Given the description of an element on the screen output the (x, y) to click on. 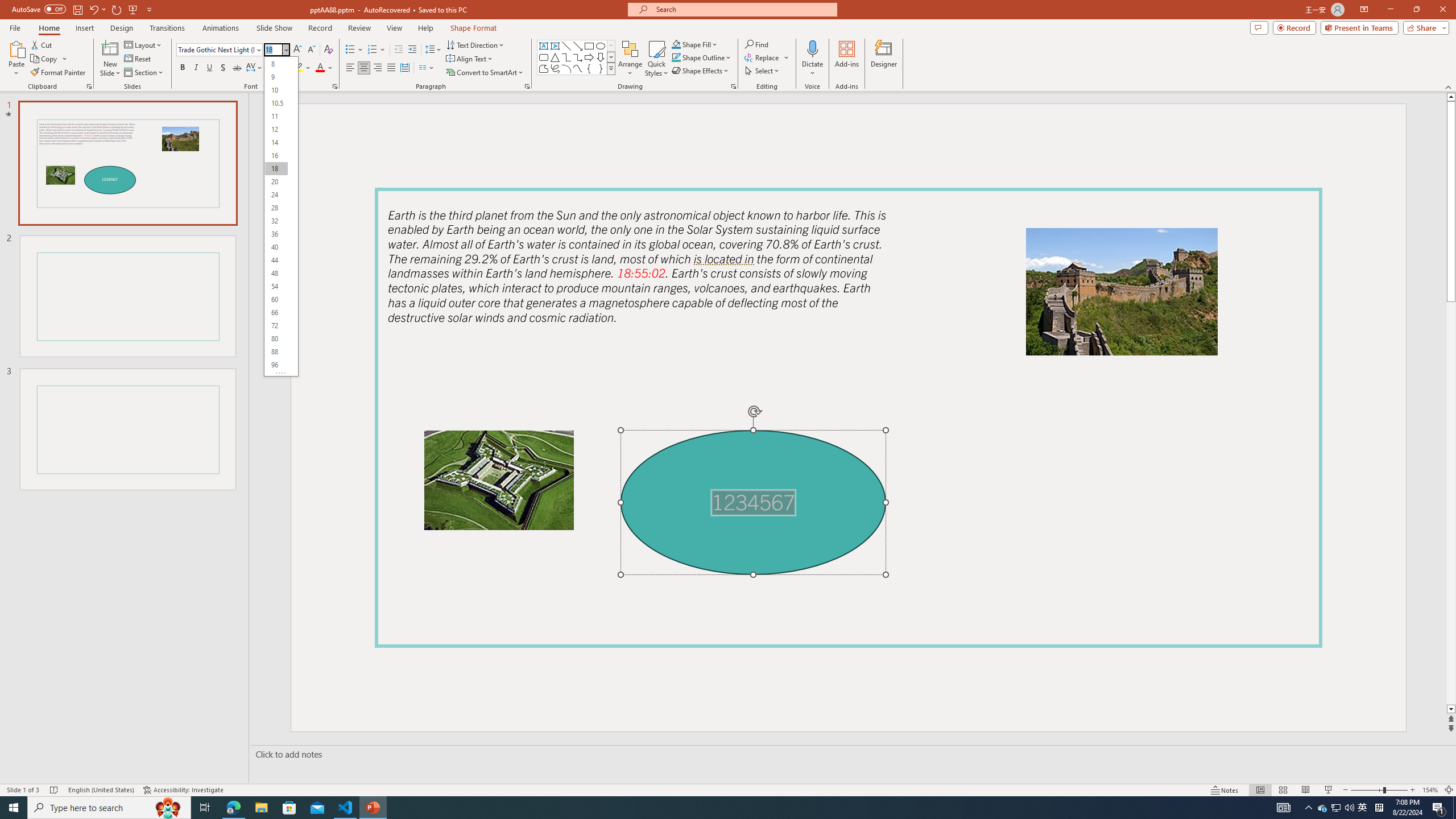
9 (276, 76)
Shape Outline Teal, Accent 1 (675, 56)
